Given the description of an element on the screen output the (x, y) to click on. 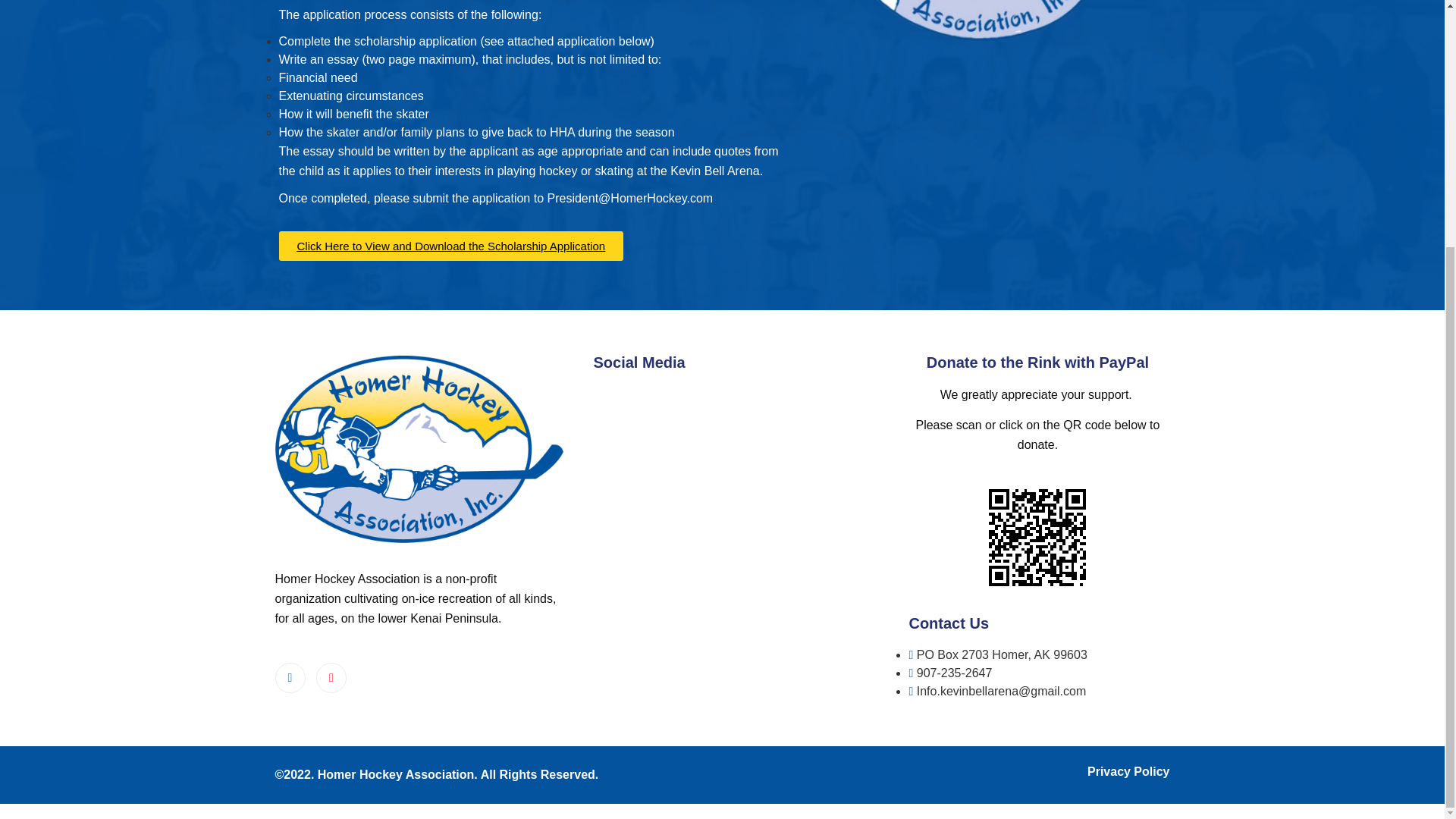
Click Here to View and Download the Scholarship Application (451, 255)
Donate to the Rink with PayPal (1037, 362)
HHA Logo 1 (418, 448)
Privacy Policy (1128, 771)
